Given the description of an element on the screen output the (x, y) to click on. 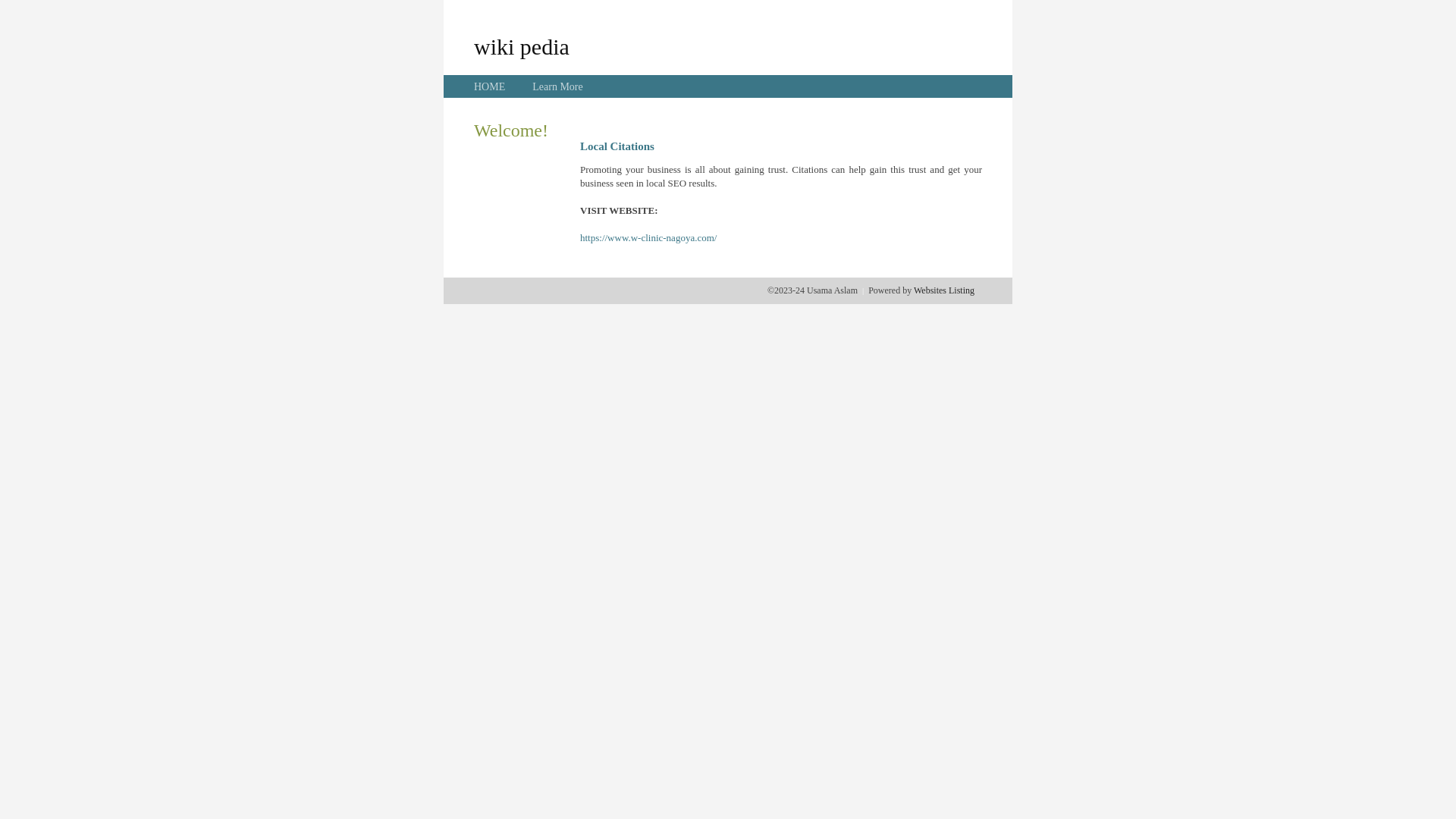
https://www.w-clinic-nagoya.com/ Element type: text (648, 237)
wiki pedia Element type: text (521, 46)
Learn More Element type: text (557, 86)
Websites Listing Element type: text (943, 290)
HOME Element type: text (489, 86)
